Given the description of an element on the screen output the (x, y) to click on. 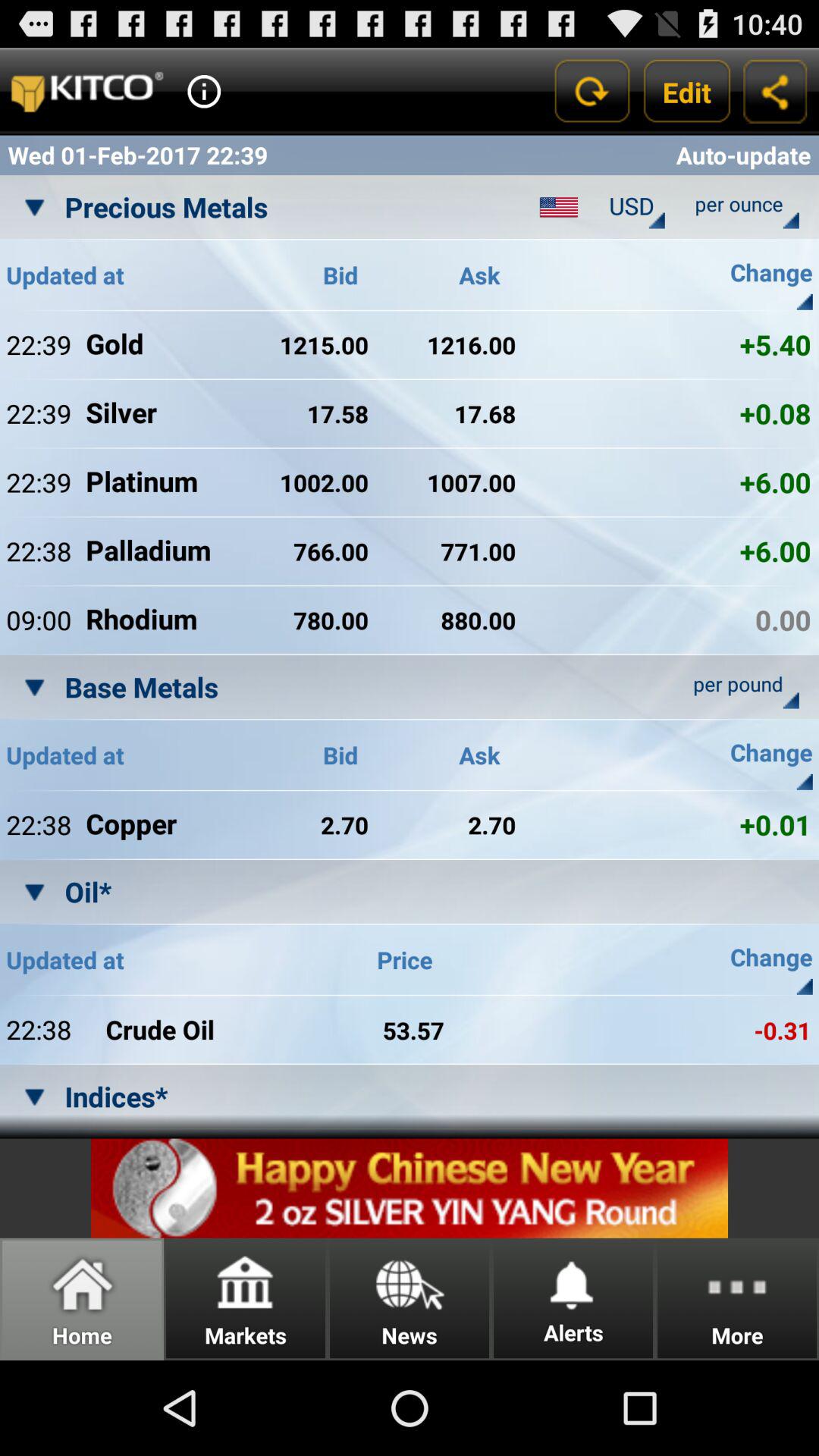
click on the icon right to alerts icon (737, 1299)
